Given the description of an element on the screen output the (x, y) to click on. 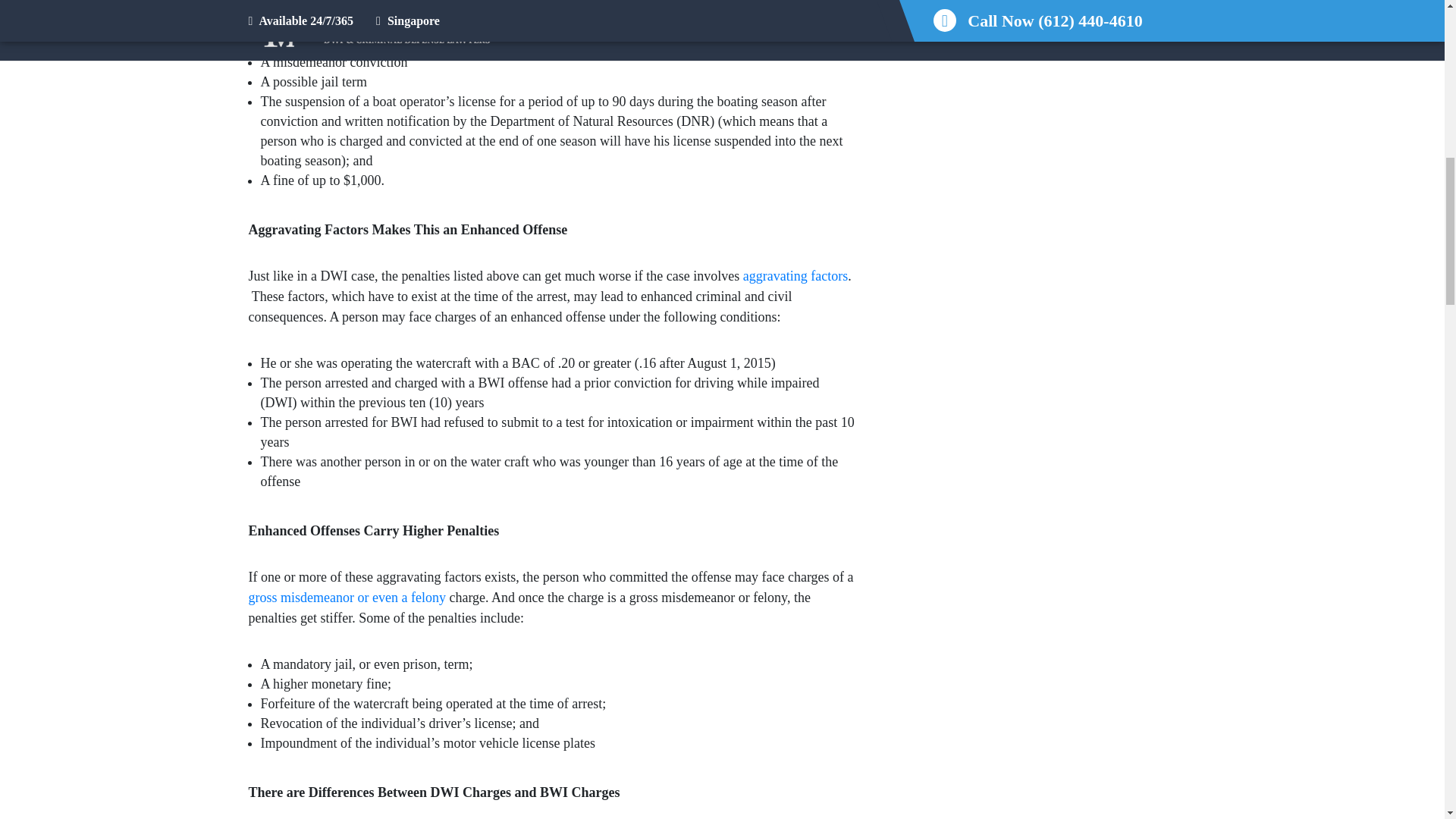
gross misdemeanor or even a felony (346, 597)
Minnesota Statutes 169A.03 (794, 275)
aggravating factors (794, 275)
Minnesota Statutes 609.02 (346, 597)
first charge (816, 15)
Minnesota Statutes 169A.07 (816, 15)
